Given the description of an element on the screen output the (x, y) to click on. 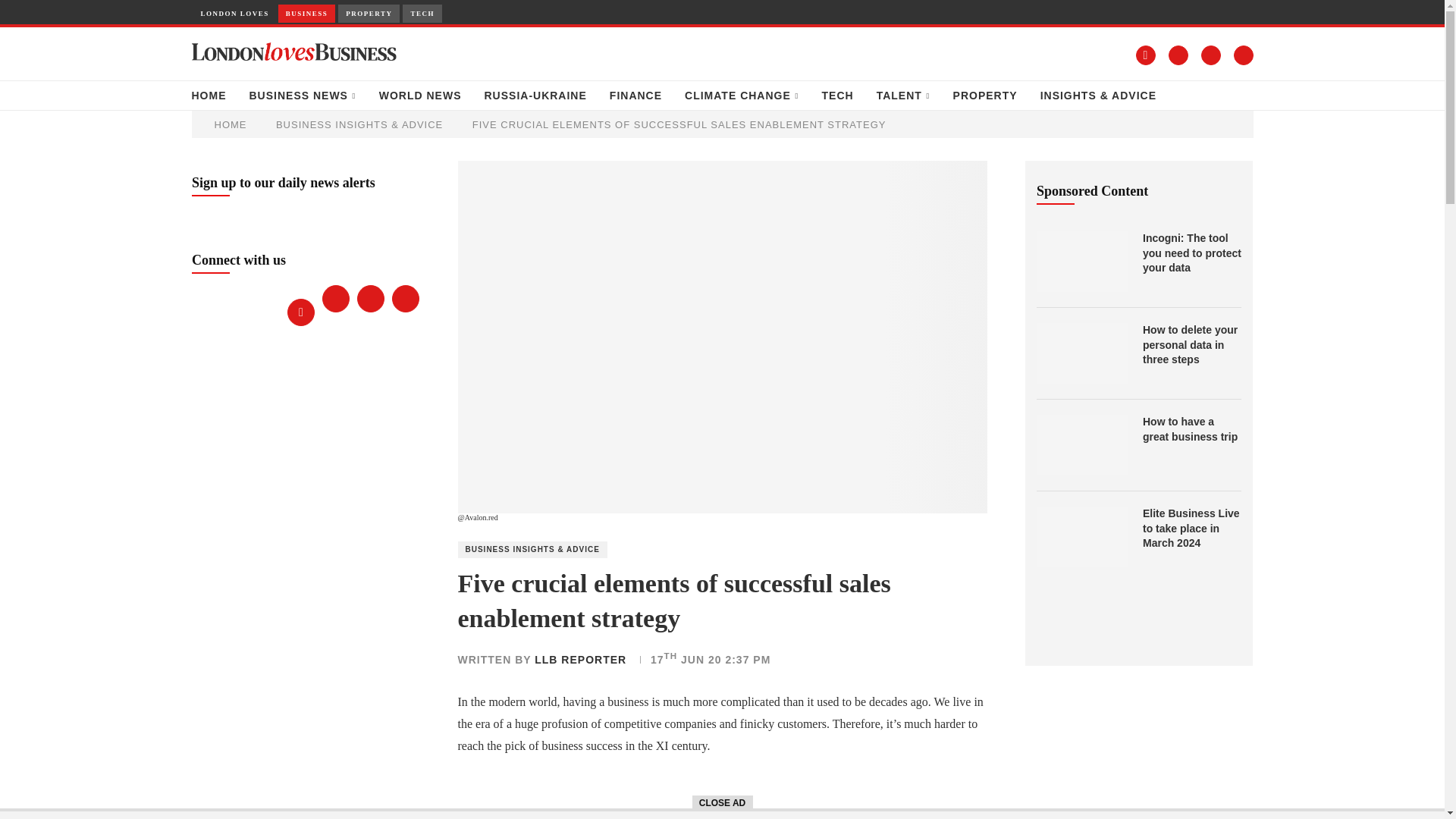
How to have a great business trip (1191, 429)
How to delete your personal data in three steps (1191, 344)
How to have a great business trip (1081, 444)
Incogni: The tool you need to protect your data (1191, 253)
How to delete your personal data in three steps (1081, 353)
Incogni: The tool you need to protect your data (1081, 260)
